Given the description of an element on the screen output the (x, y) to click on. 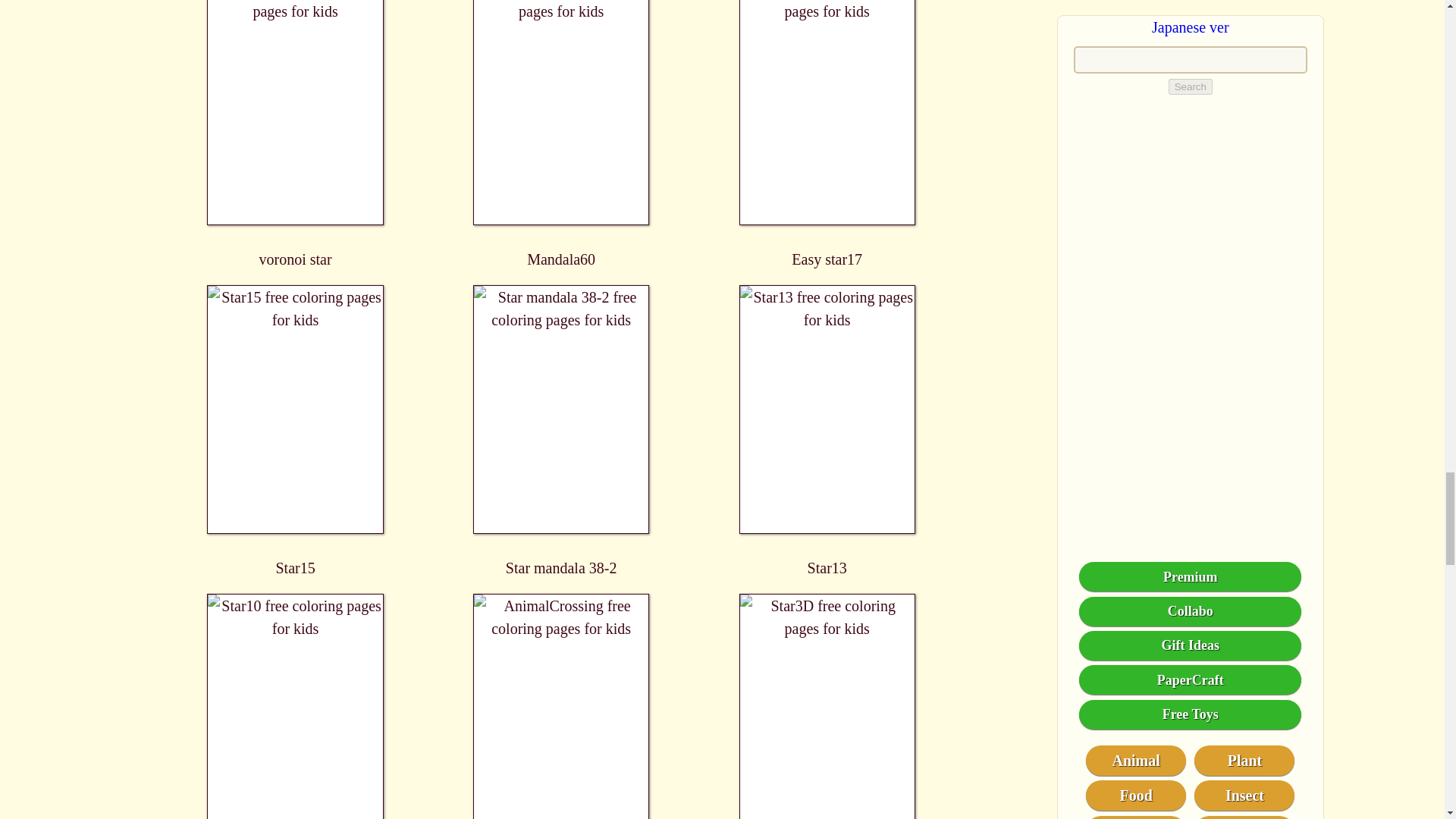
Star3D (826, 706)
Star10 (295, 706)
AnimalCrossing (561, 706)
